Given the description of an element on the screen output the (x, y) to click on. 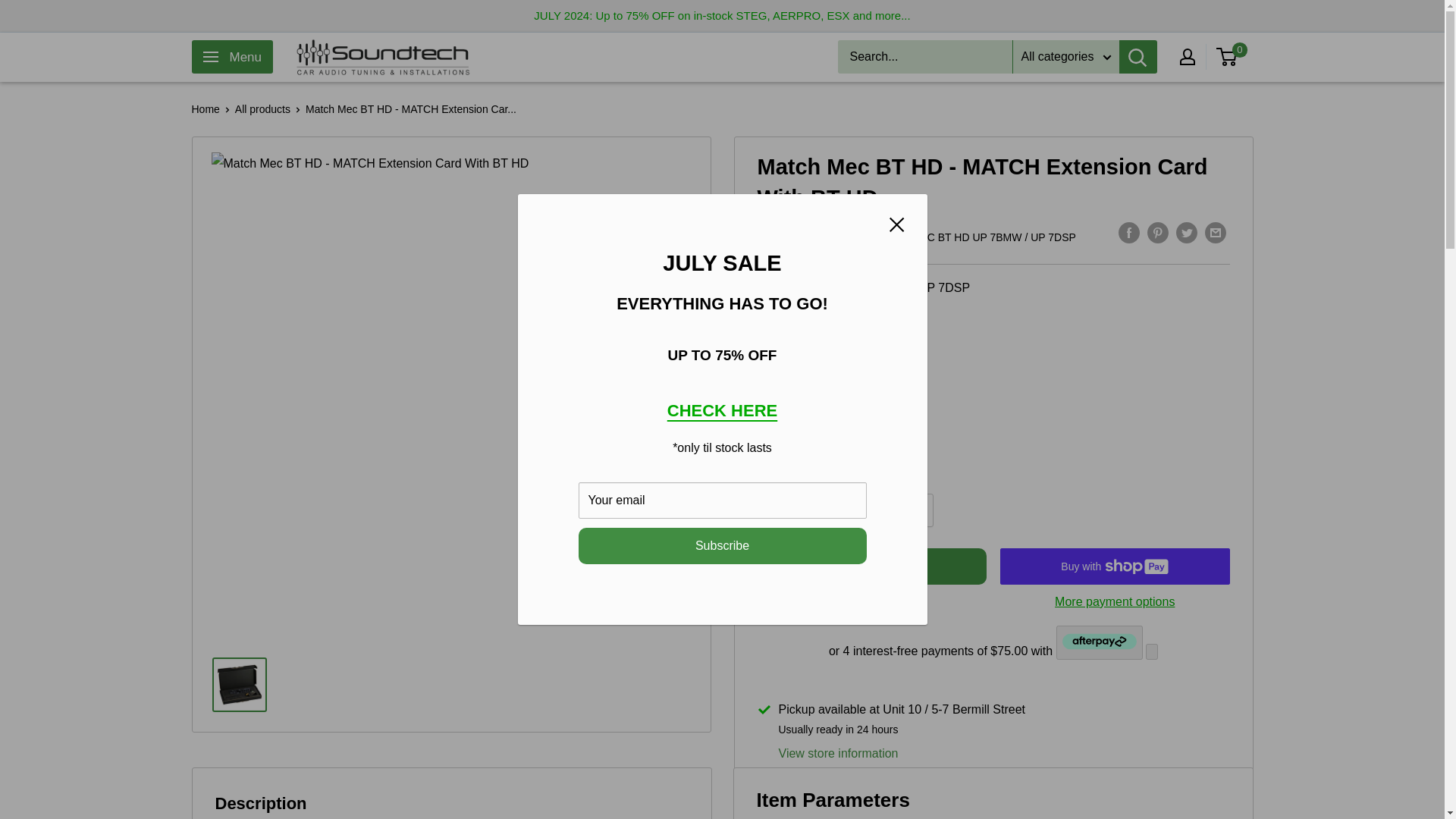
Subscribe (722, 545)
1 (876, 510)
Increase quantity by 1 (917, 510)
May Sale - Everything has to go! (721, 410)
CHECK HERE (721, 410)
Decrease quantity by 1 (836, 510)
